Given the description of an element on the screen output the (x, y) to click on. 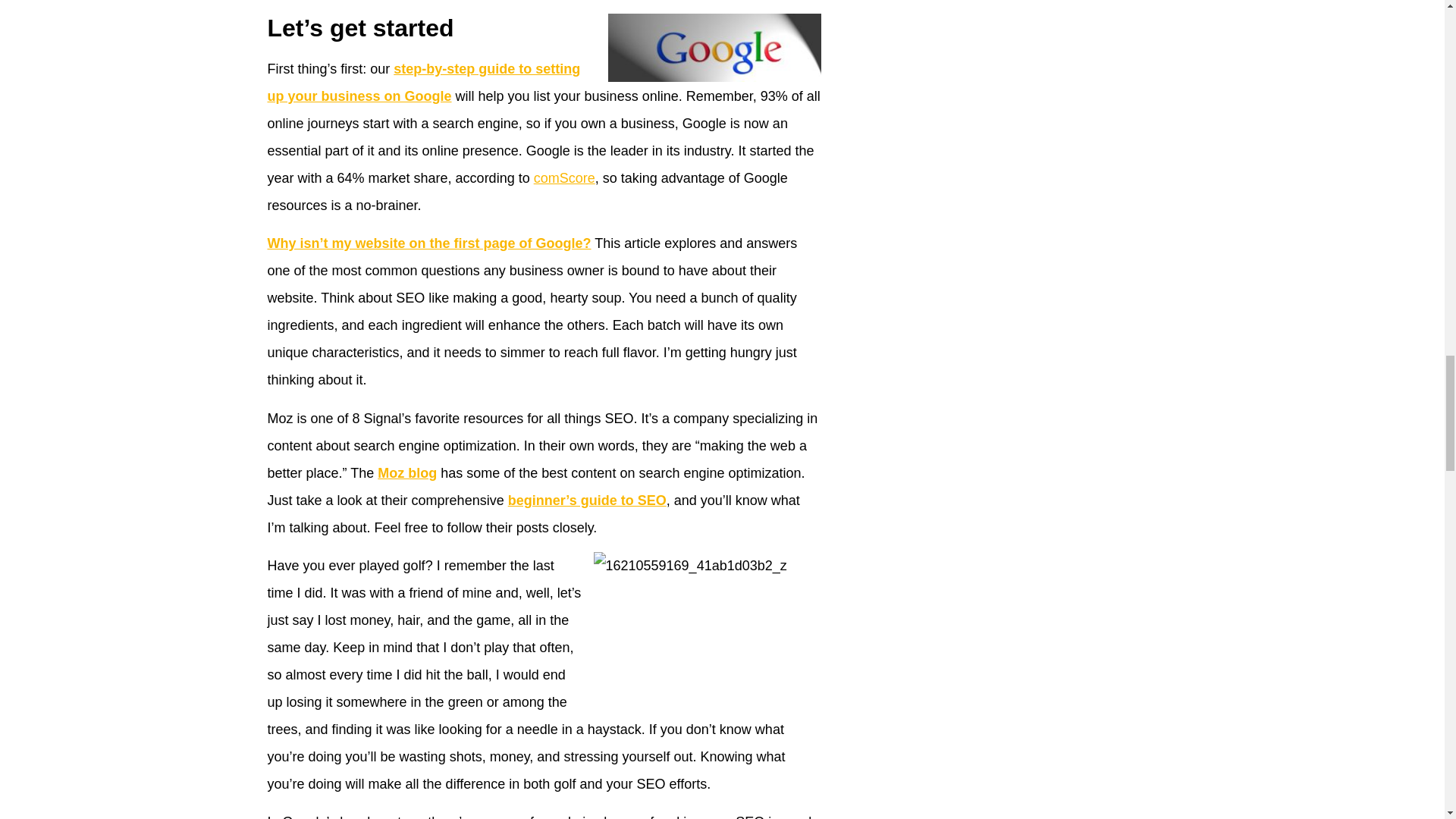
Moz blog (406, 473)
comScore (564, 177)
step-by-step guide to setting up your business on Google (422, 82)
